Given the description of an element on the screen output the (x, y) to click on. 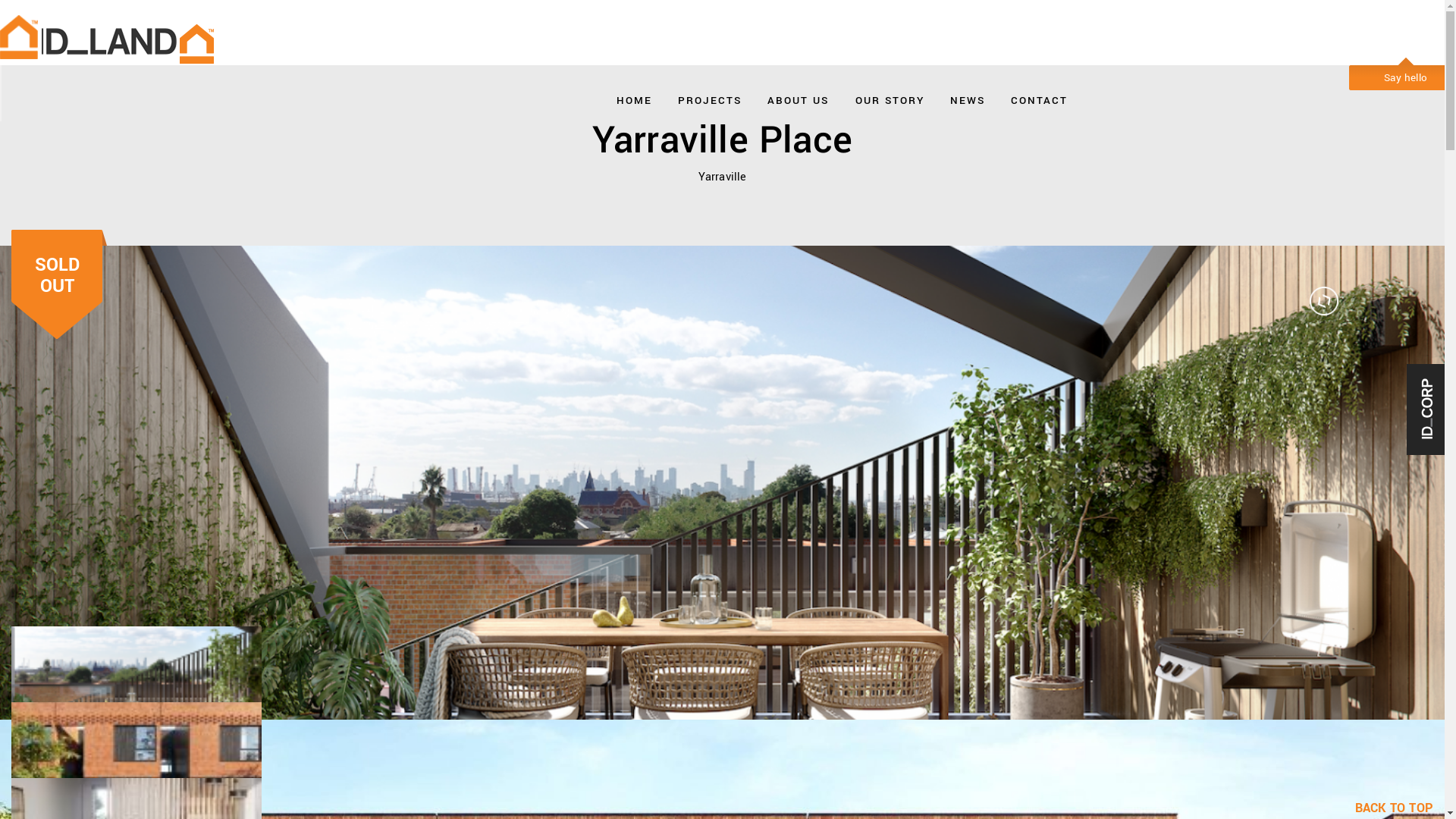
BACK TO TOP Element type: text (1399, 807)
OUR STORY Element type: text (889, 96)
HOME Element type: text (634, 96)
CONTACT Element type: text (1038, 96)
NEWS Element type: text (967, 96)
ABOUT US Element type: text (797, 96)
PROJECTS Element type: text (709, 96)
